Given the description of an element on the screen output the (x, y) to click on. 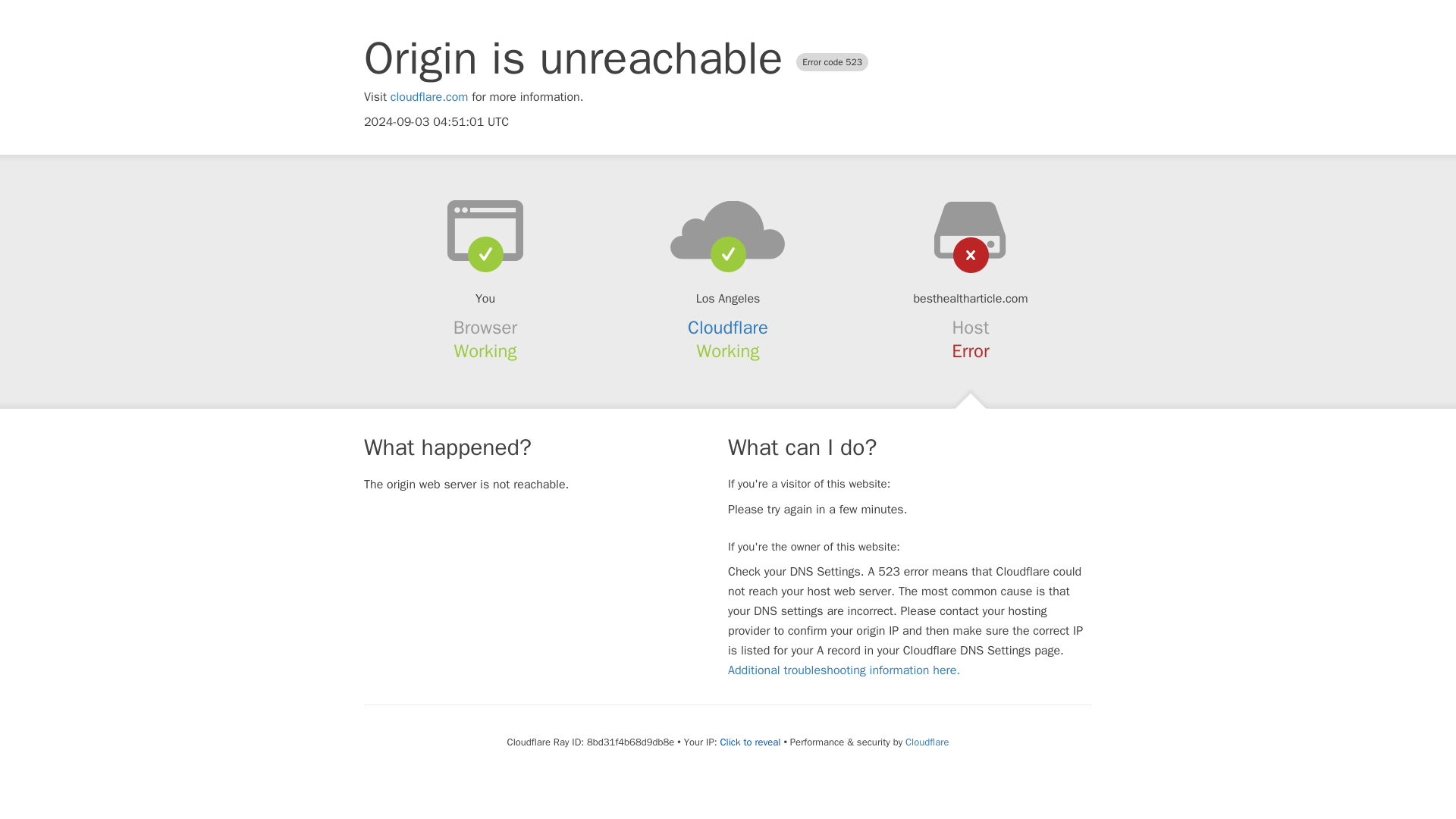
Additional troubleshooting information here. (843, 670)
Cloudflare (927, 741)
cloudflare.com (429, 96)
Cloudflare (727, 327)
Click to reveal (750, 742)
